Given the description of an element on the screen output the (x, y) to click on. 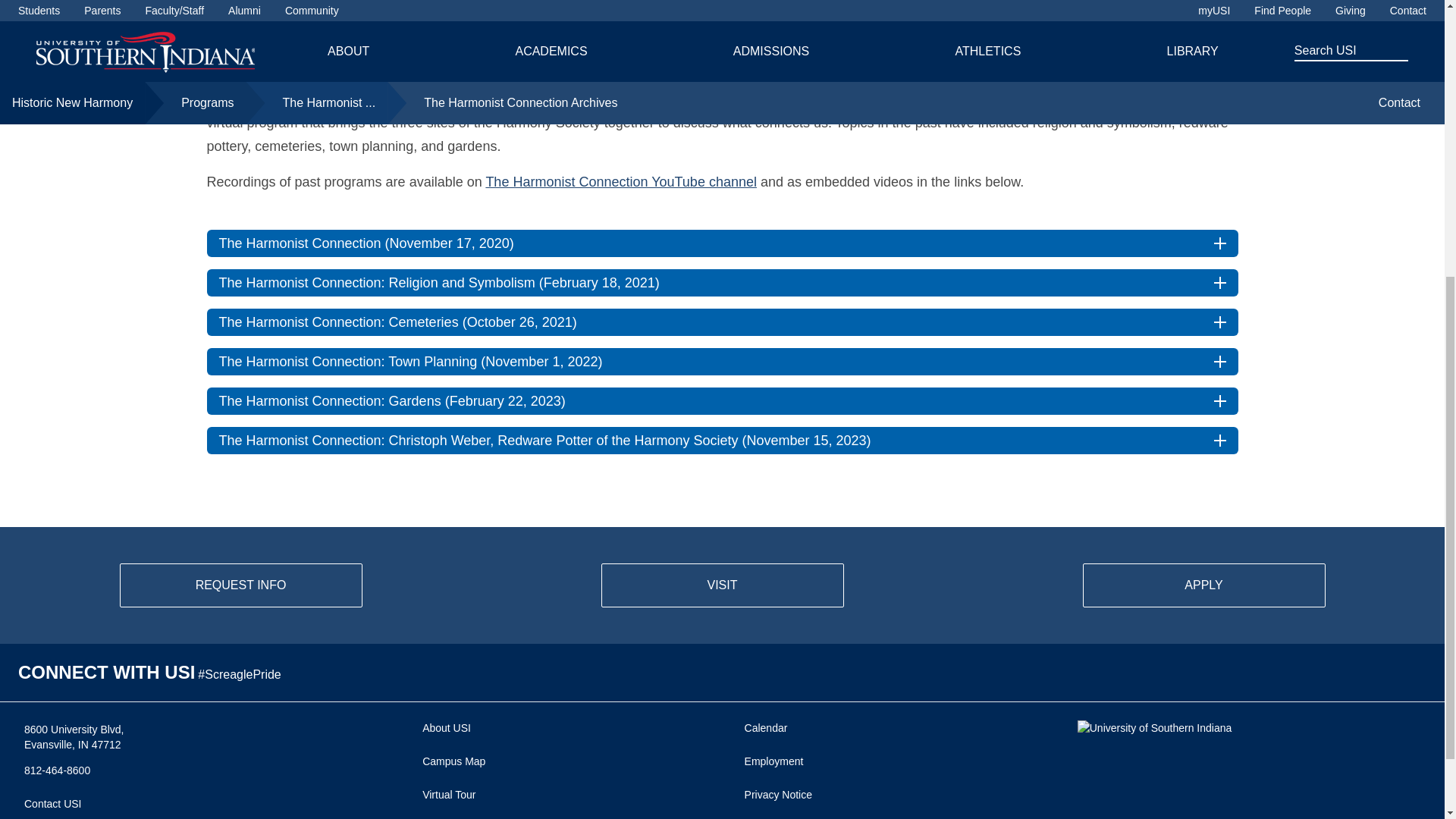
Historic Harmony Website (665, 99)
Old Economy Village Website (885, 99)
The Harmonist Connection YouTube Channel (620, 181)
